Given the description of an element on the screen output the (x, y) to click on. 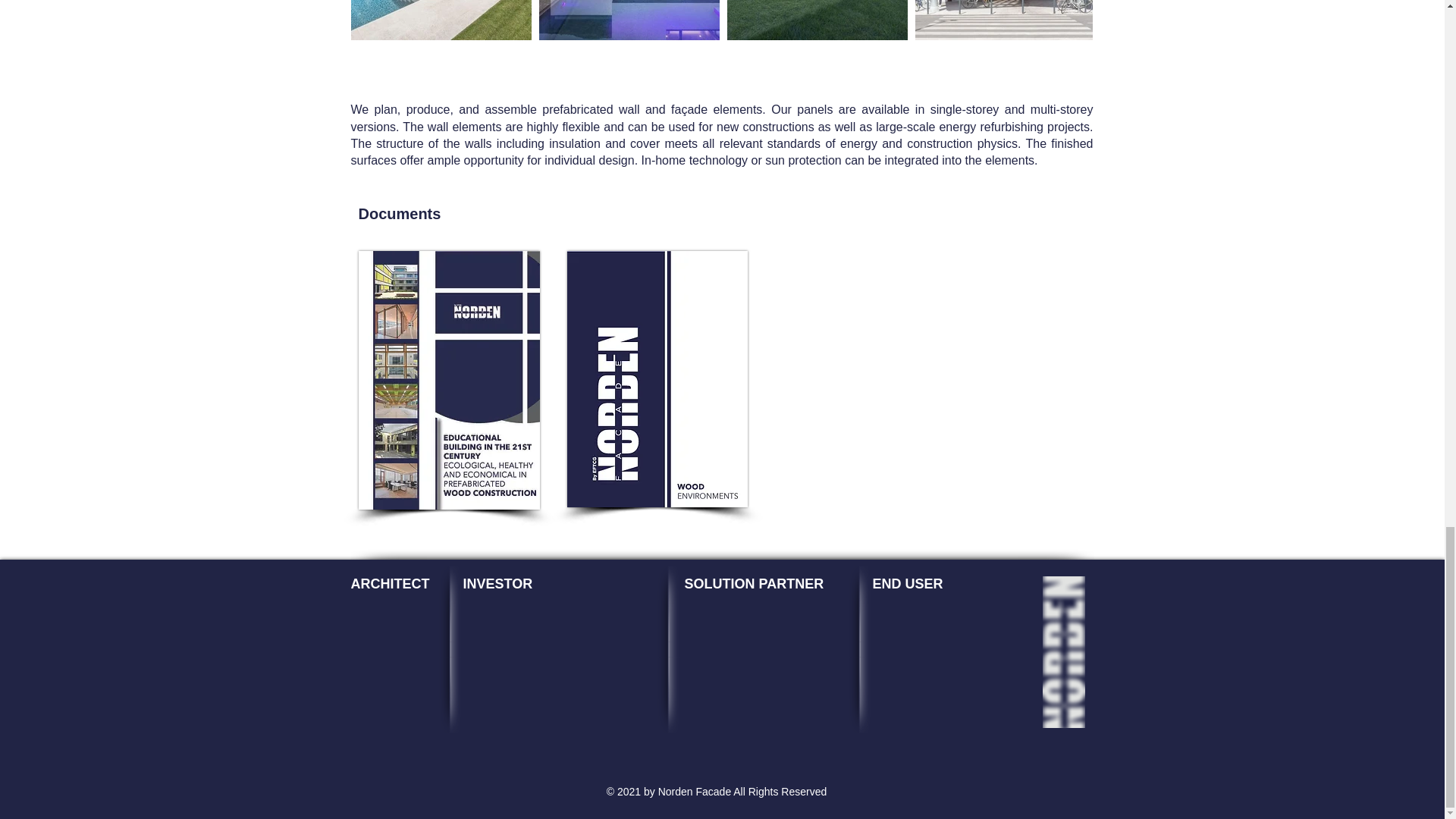
SOLUTION PARTNER (754, 583)
INVESTOR (497, 583)
END USER (907, 583)
ARCHITECT (389, 583)
